Given the description of an element on the screen output the (x, y) to click on. 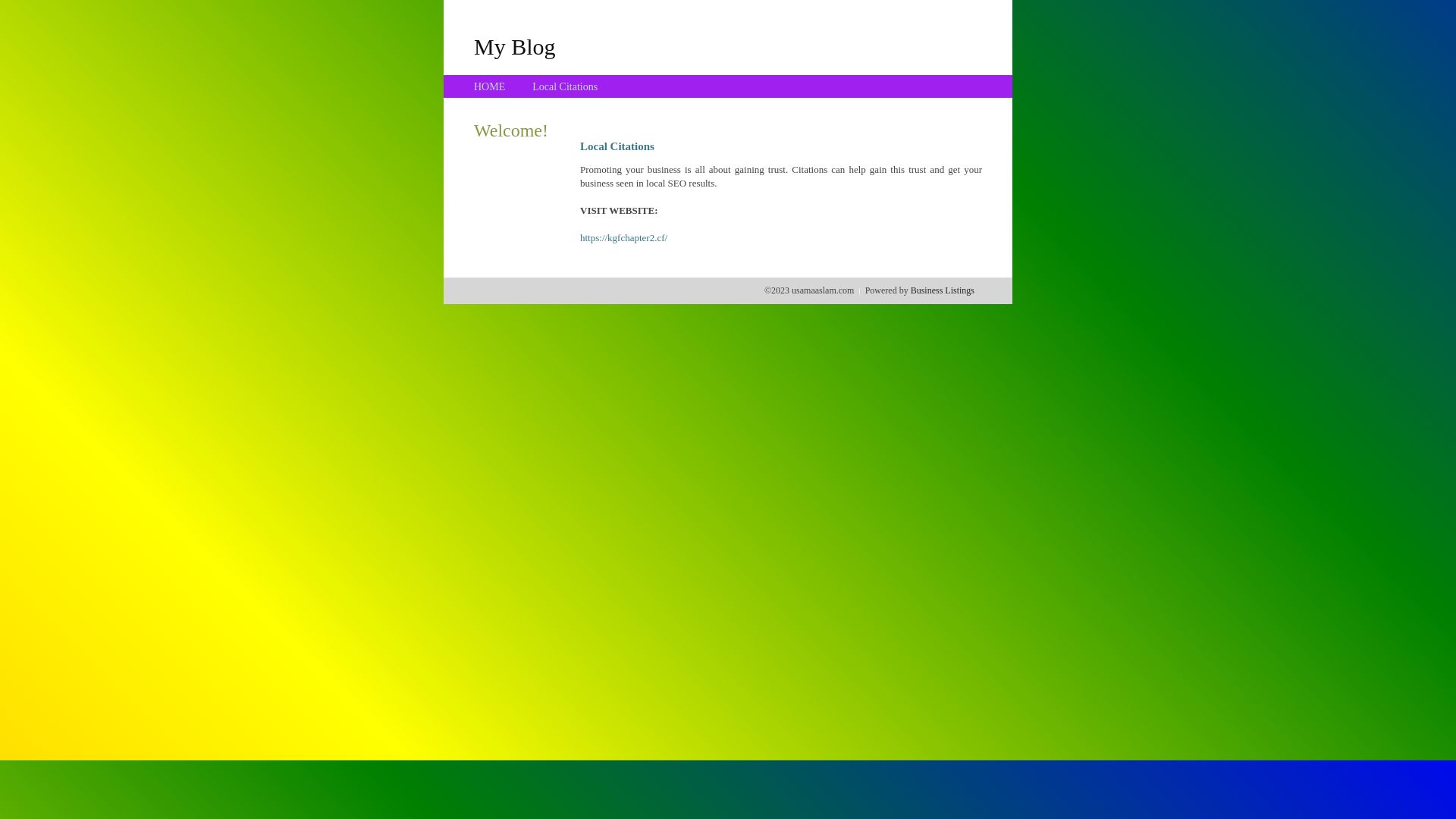
Local Citations Element type: text (564, 86)
HOME Element type: text (489, 86)
https://kgfchapter2.cf/ Element type: text (623, 237)
Business Listings Element type: text (942, 290)
My Blog Element type: text (514, 46)
